Given the description of an element on the screen output the (x, y) to click on. 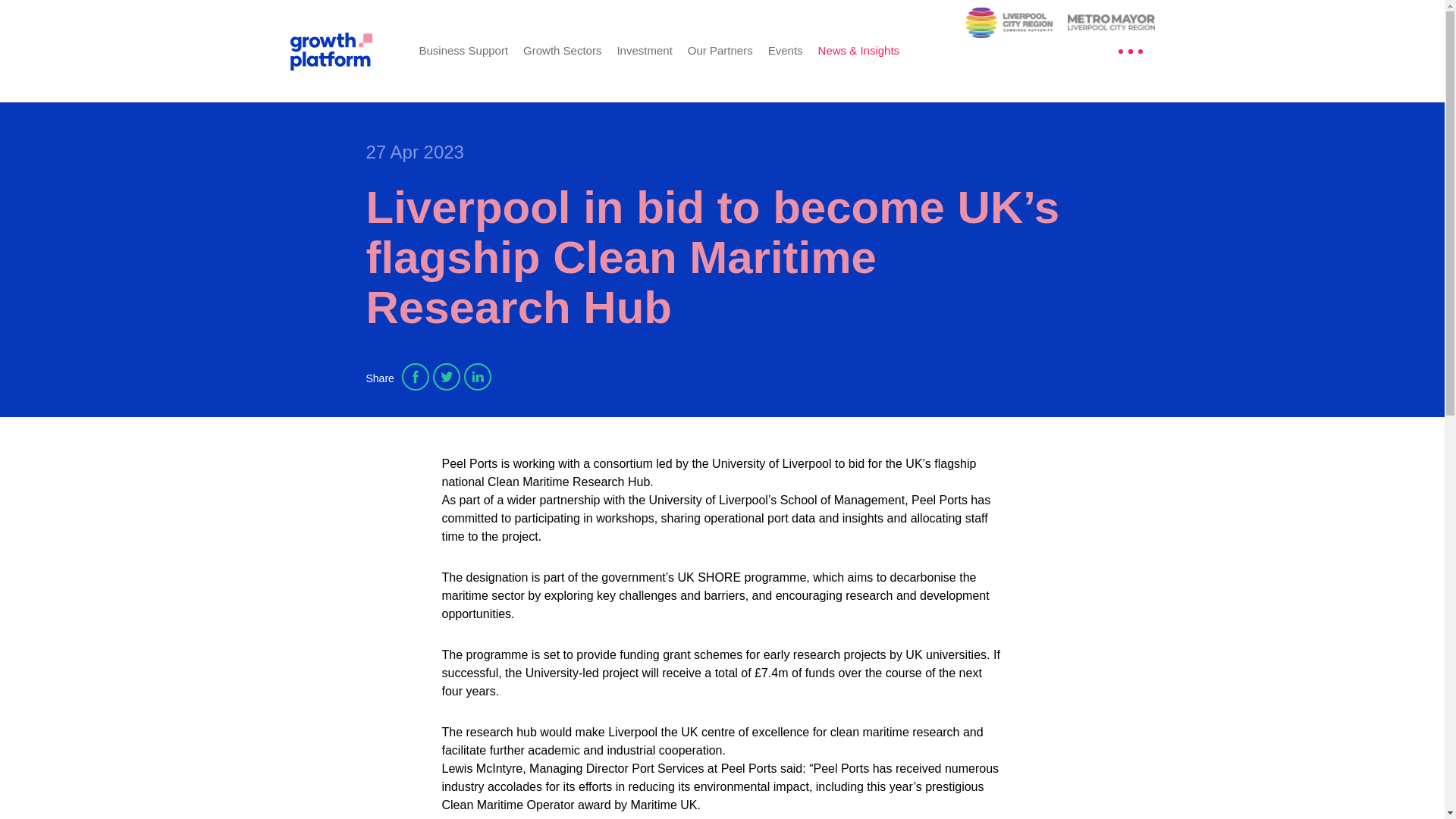
Go to Growth Platform homepage (342, 50)
Our Partners (719, 50)
Growth Sectors (561, 50)
Investment (643, 50)
Business Support (463, 50)
